Given the description of an element on the screen output the (x, y) to click on. 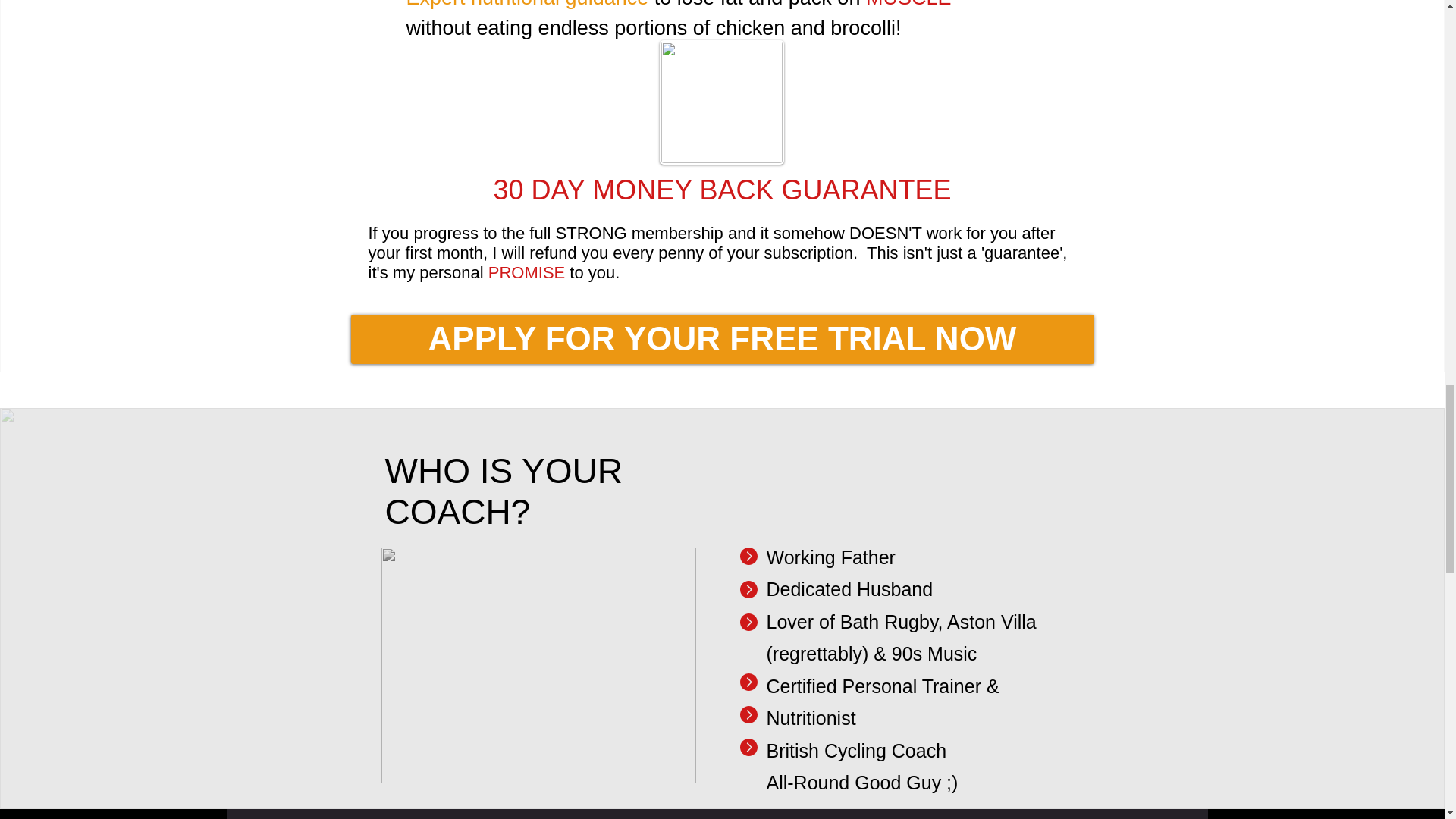
APPLY FOR YOUR FREE TRIAL NOW (721, 338)
